Given the description of an element on the screen output the (x, y) to click on. 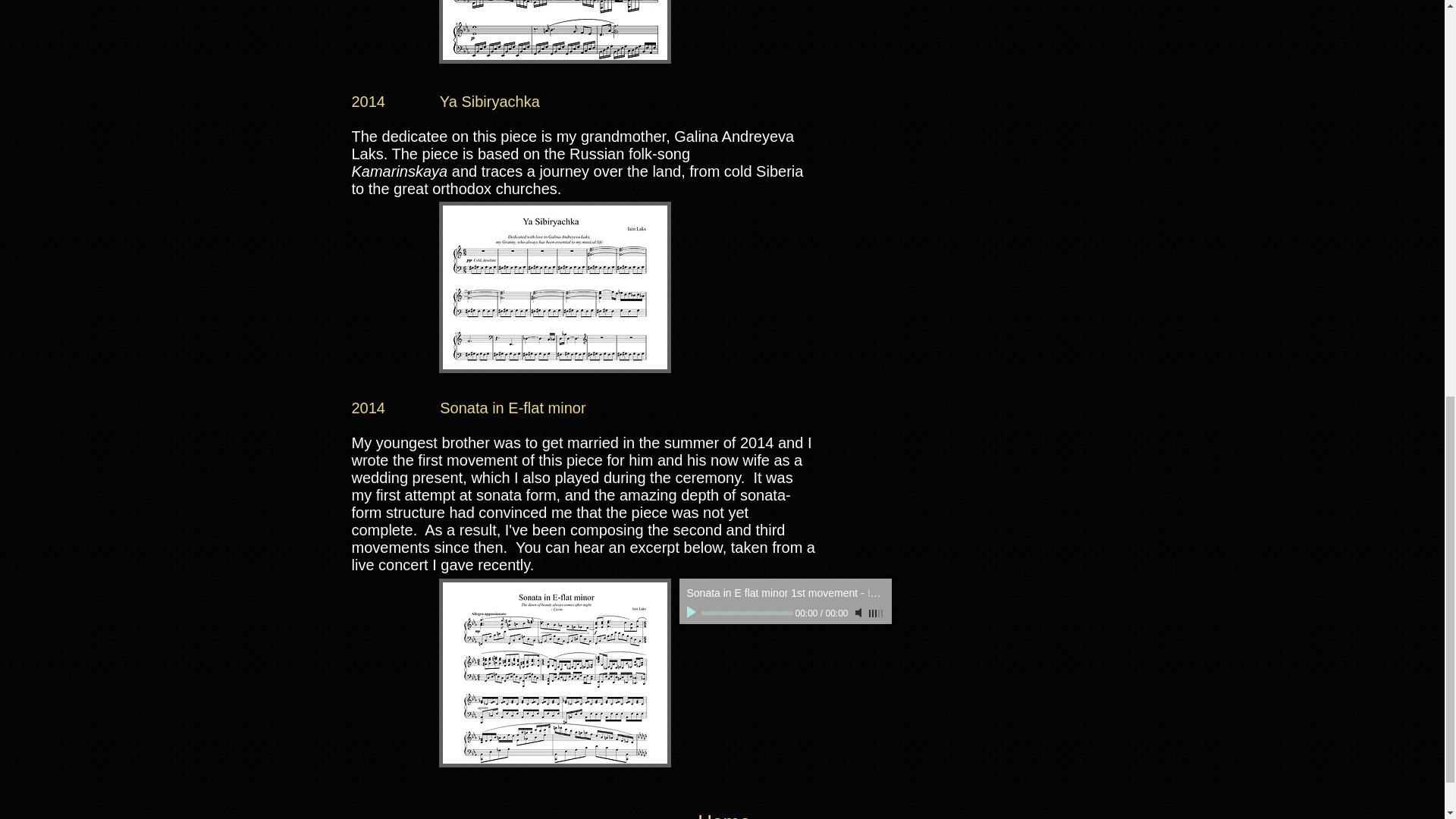
0 (746, 612)
Home (723, 813)
External YouTube (869, 294)
